Given the description of an element on the screen output the (x, y) to click on. 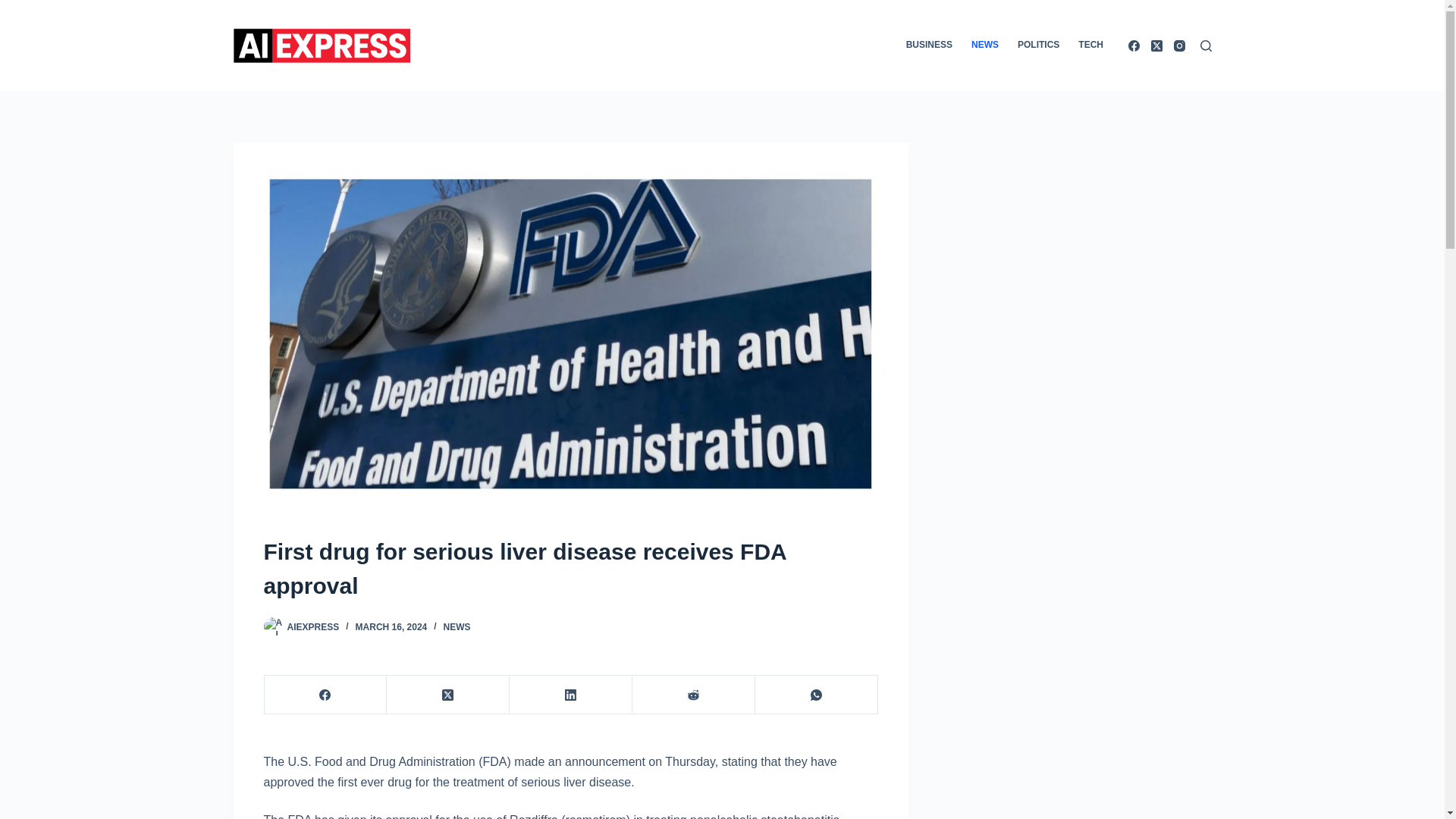
NEWS (457, 626)
Skip to content (15, 7)
AIEXPRESS (312, 626)
Posts by aiexpress (312, 626)
First drug for serious liver disease receives FDA approval (570, 568)
